Given the description of an element on the screen output the (x, y) to click on. 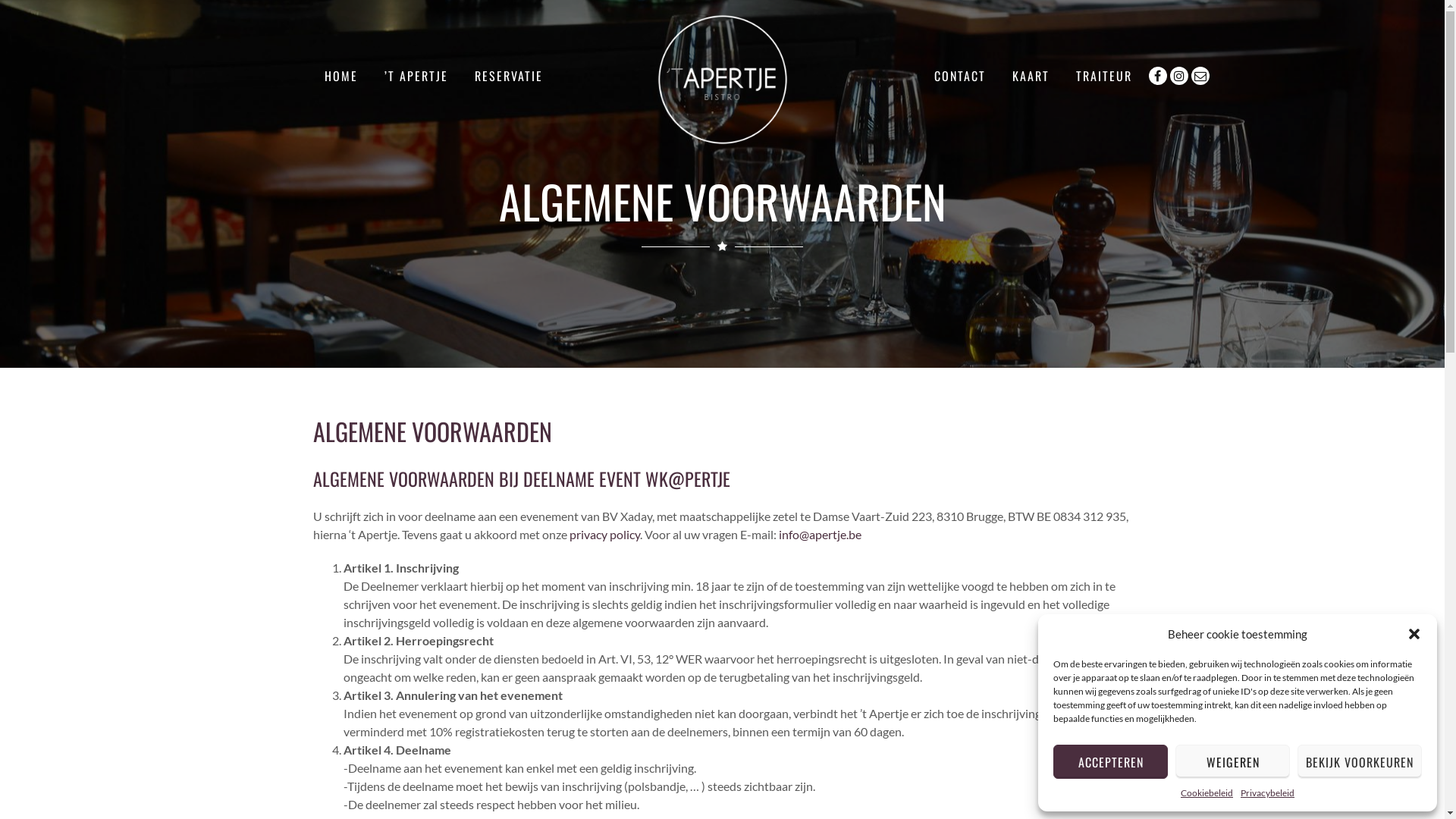
BEKIJK VOORKEUREN Element type: text (1359, 761)
HOME Element type: text (340, 75)
privacy policy Element type: text (603, 534)
WEIGEREN Element type: text (1232, 761)
RESERVATIE Element type: text (508, 75)
KAART Element type: text (1029, 75)
ACCEPTEREN Element type: text (1110, 761)
CONTACT Element type: text (959, 75)
info@apertje.be Element type: text (819, 534)
Privacybeleid Element type: text (1267, 793)
TRAITEUR Element type: text (1103, 75)
Cookiebeleid Element type: text (1206, 793)
